Given the description of an element on the screen output the (x, y) to click on. 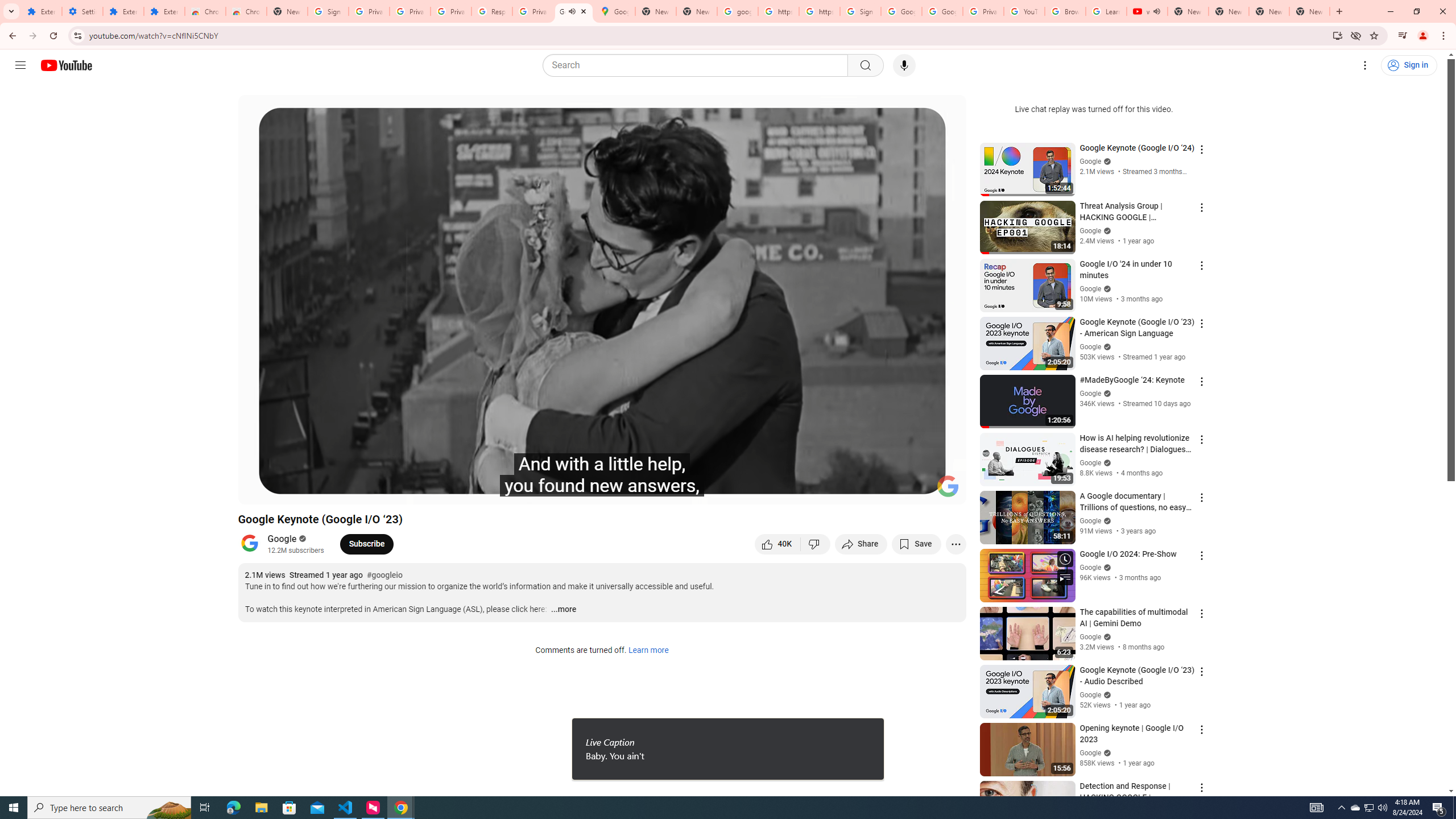
Mute (m) (312, 490)
New Tab (287, 11)
Google Maps (614, 11)
Browse Chrome as a guest - Computer - Google Chrome Help (1064, 11)
Subscribe to Google. (366, 543)
Theater mode (t) (917, 490)
Play (k) (257, 490)
